Given the description of an element on the screen output the (x, y) to click on. 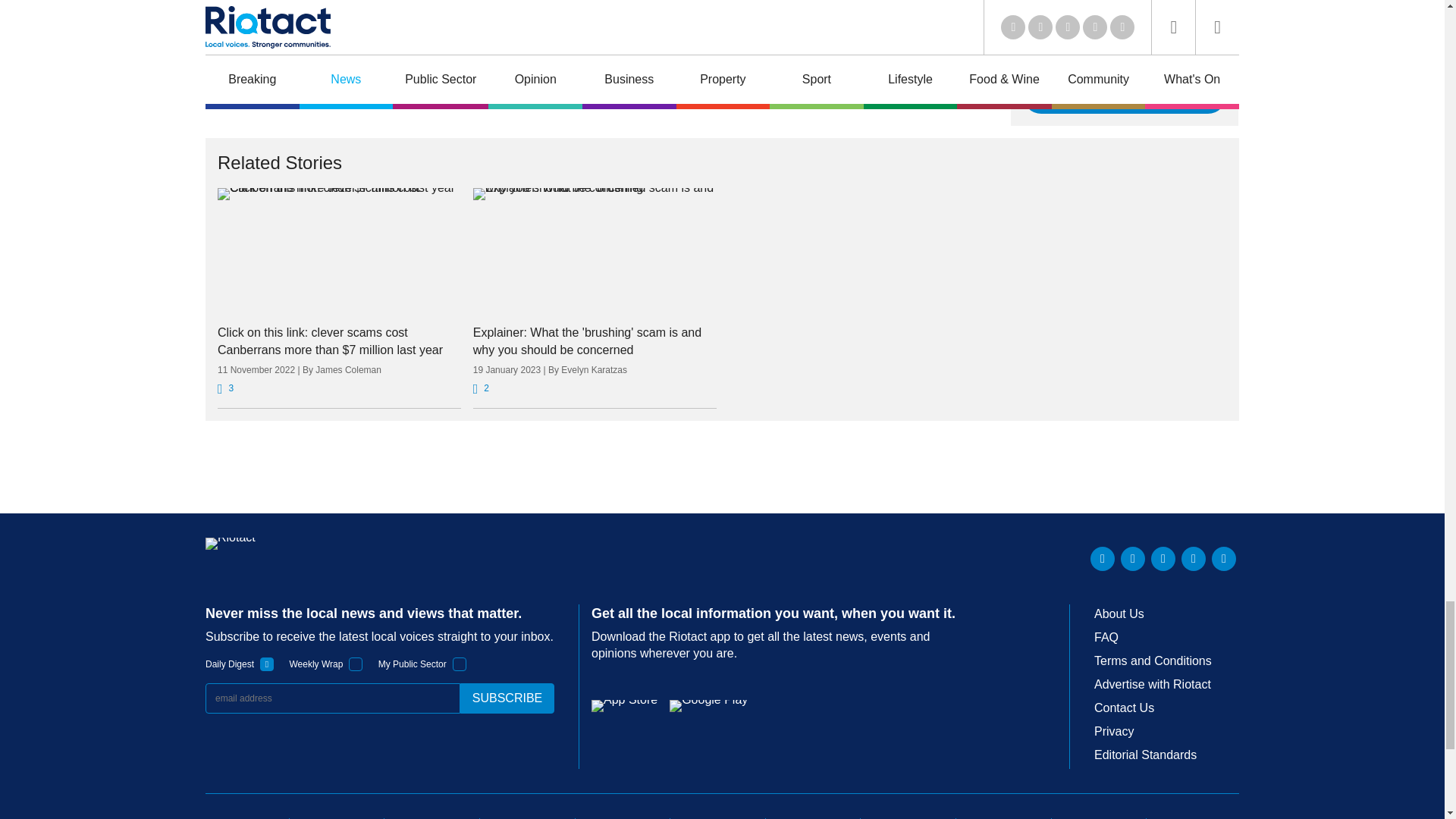
1 (266, 663)
1 (355, 663)
Twitter (1132, 558)
LinkedIn (1102, 558)
subscribe (507, 698)
1 (458, 663)
